Given the description of an element on the screen output the (x, y) to click on. 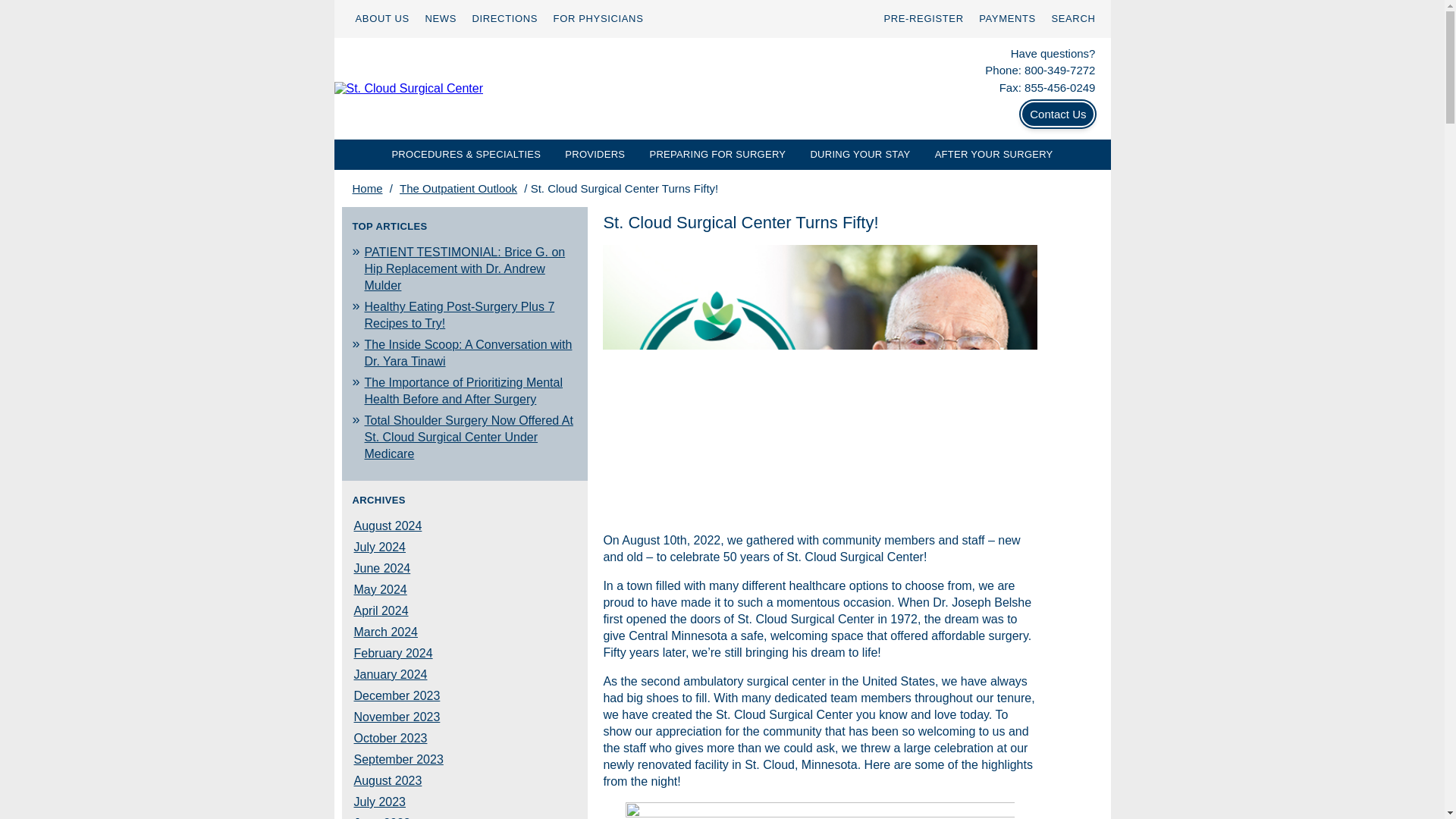
The Outpatient Outlook (458, 187)
PROVIDERS (594, 154)
SEARCH (1072, 18)
AFTER YOUR SURGERY (994, 154)
NEWS (441, 18)
July 2024 (379, 547)
PREPARING FOR SURGERY (717, 154)
DIRECTIONS (504, 18)
